Given the description of an element on the screen output the (x, y) to click on. 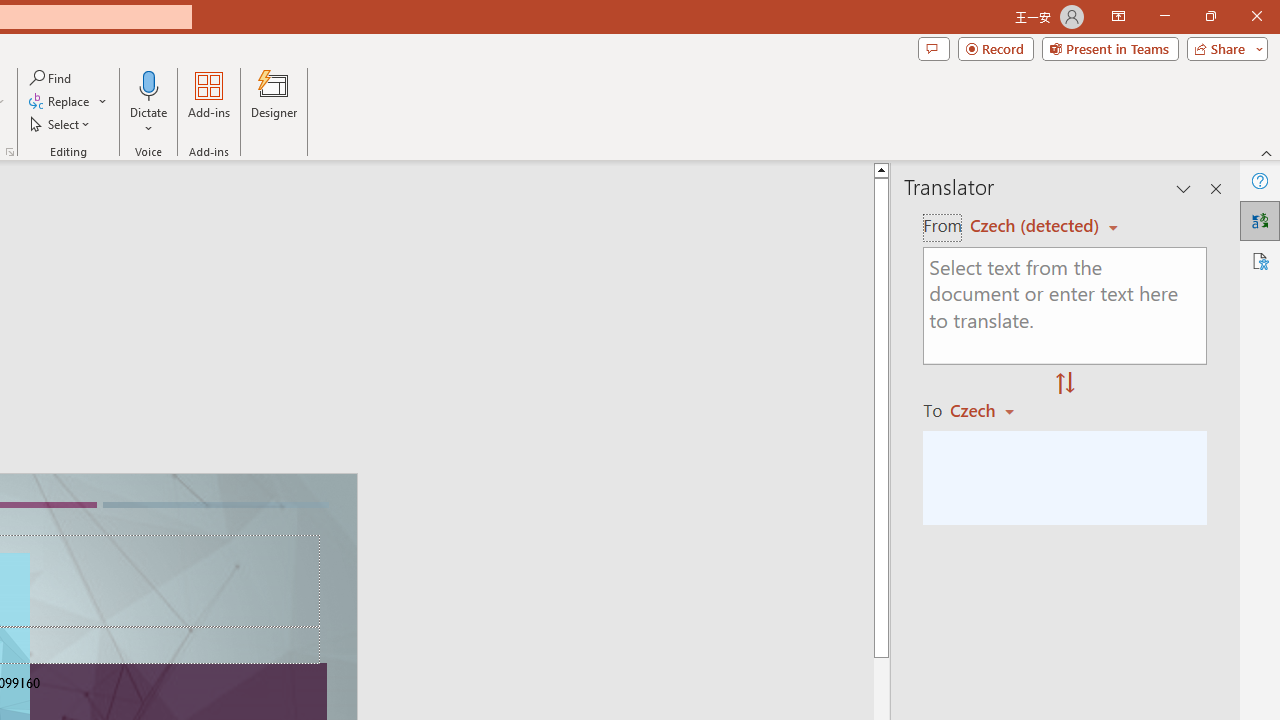
Find... (51, 78)
Czech (detected) (1037, 225)
Swap "from" and "to" languages. (1065, 383)
